Given the description of an element on the screen output the (x, y) to click on. 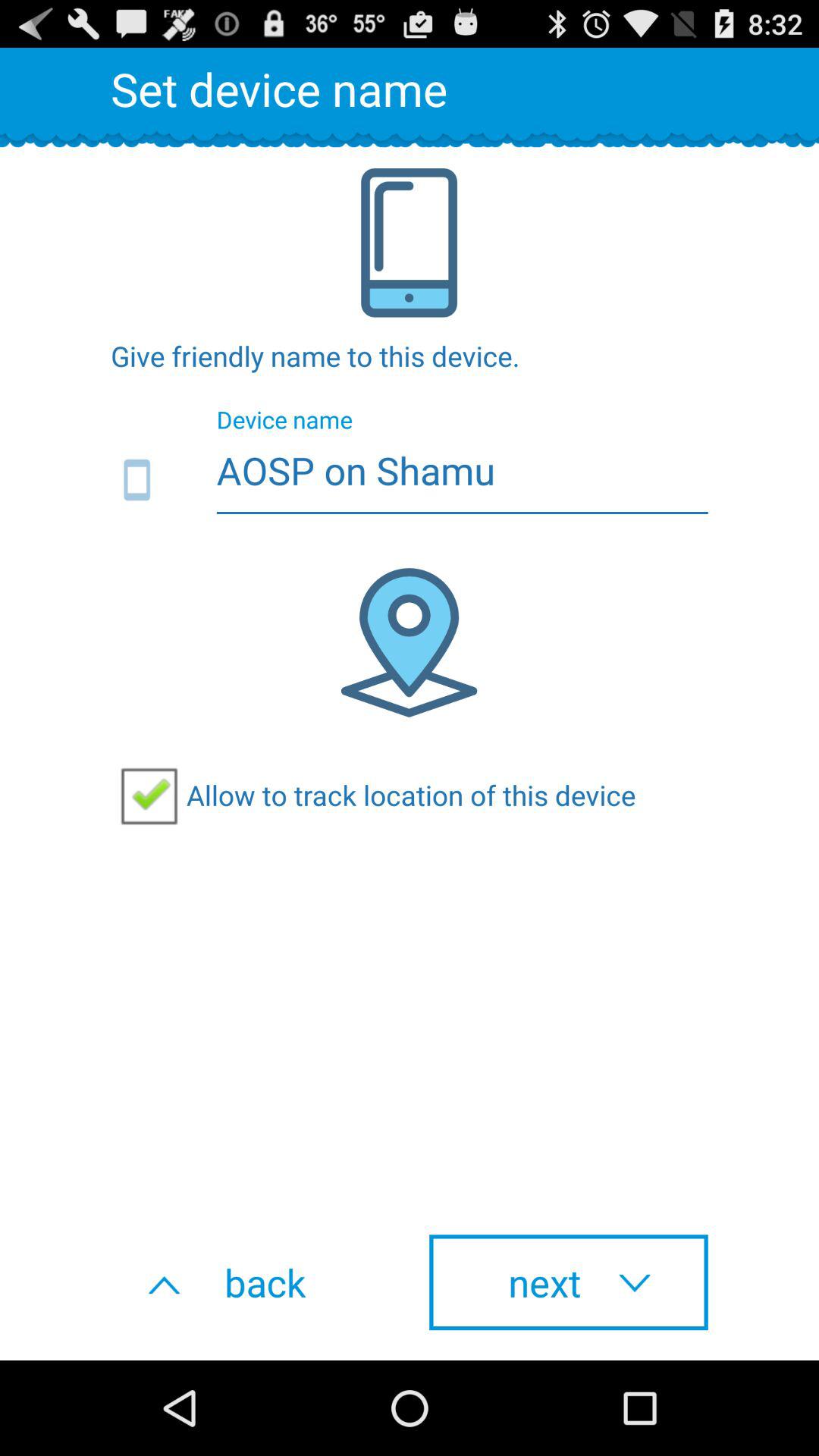
tap item at the bottom left corner (249, 1282)
